Given the description of an element on the screen output the (x, y) to click on. 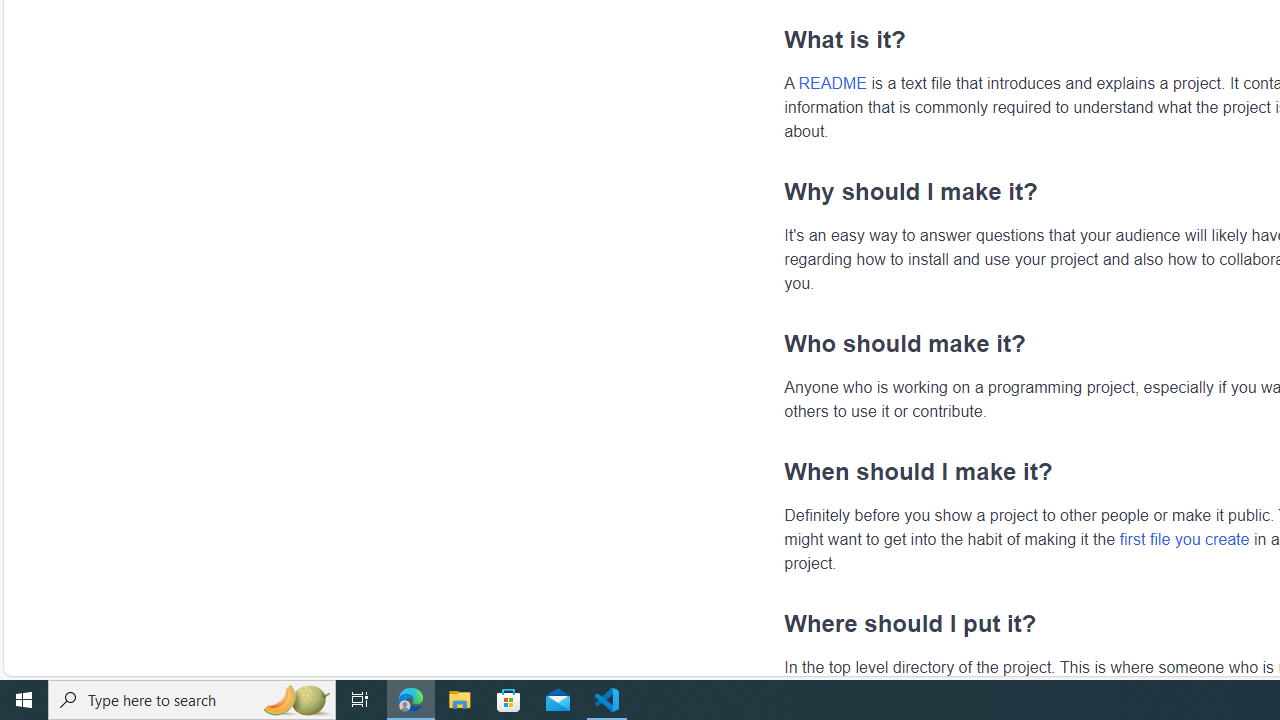
Anchor (774, 623)
first file you create (1184, 538)
README (831, 83)
